Given the description of an element on the screen output the (x, y) to click on. 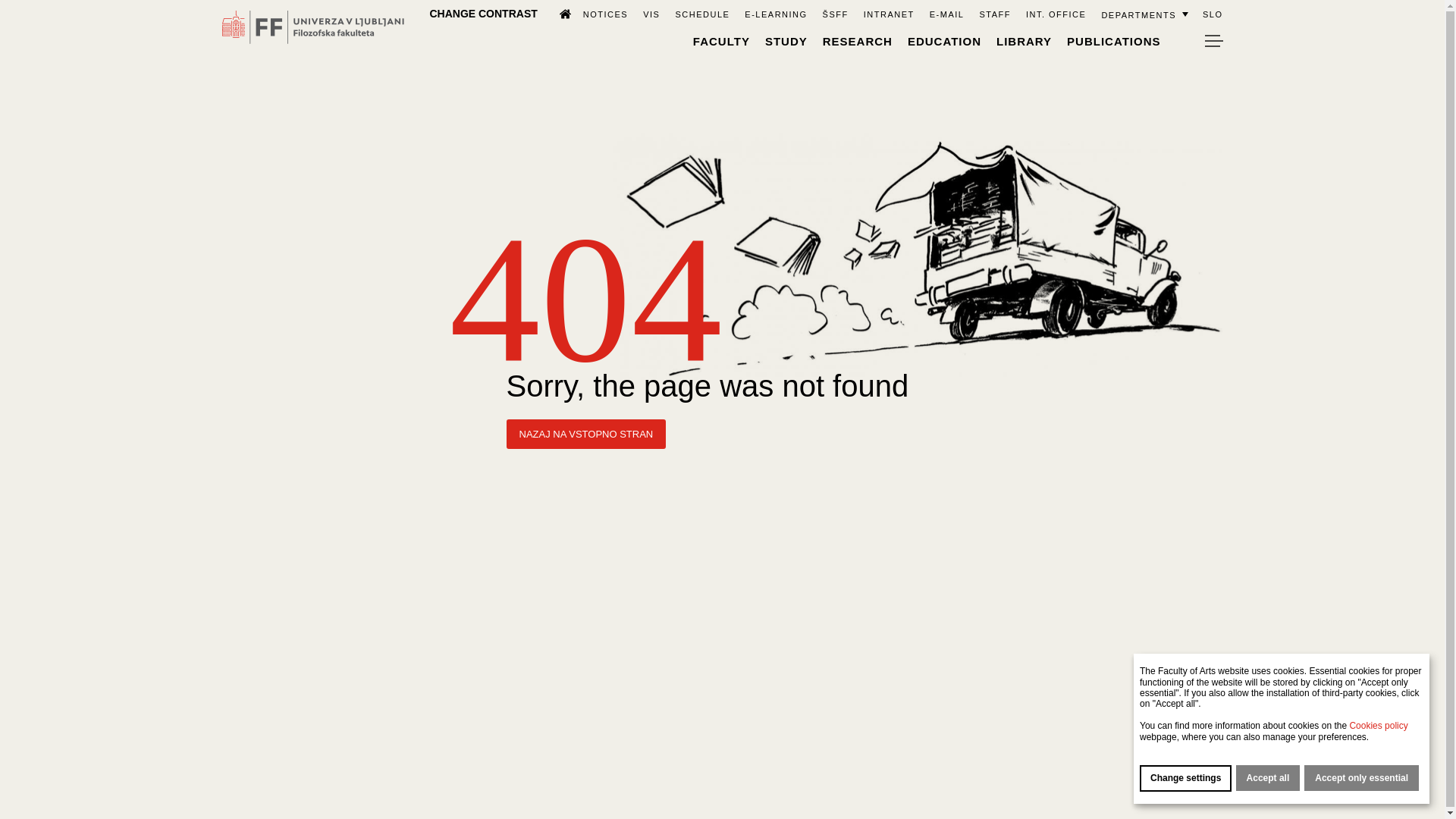
FACULTY (721, 41)
E-MAIL (946, 13)
VIS (651, 13)
VIS (651, 13)
RESEARCH (857, 41)
Intranet (888, 13)
STAFF (994, 13)
International Office (1056, 13)
STUDY (786, 41)
